Given the description of an element on the screen output the (x, y) to click on. 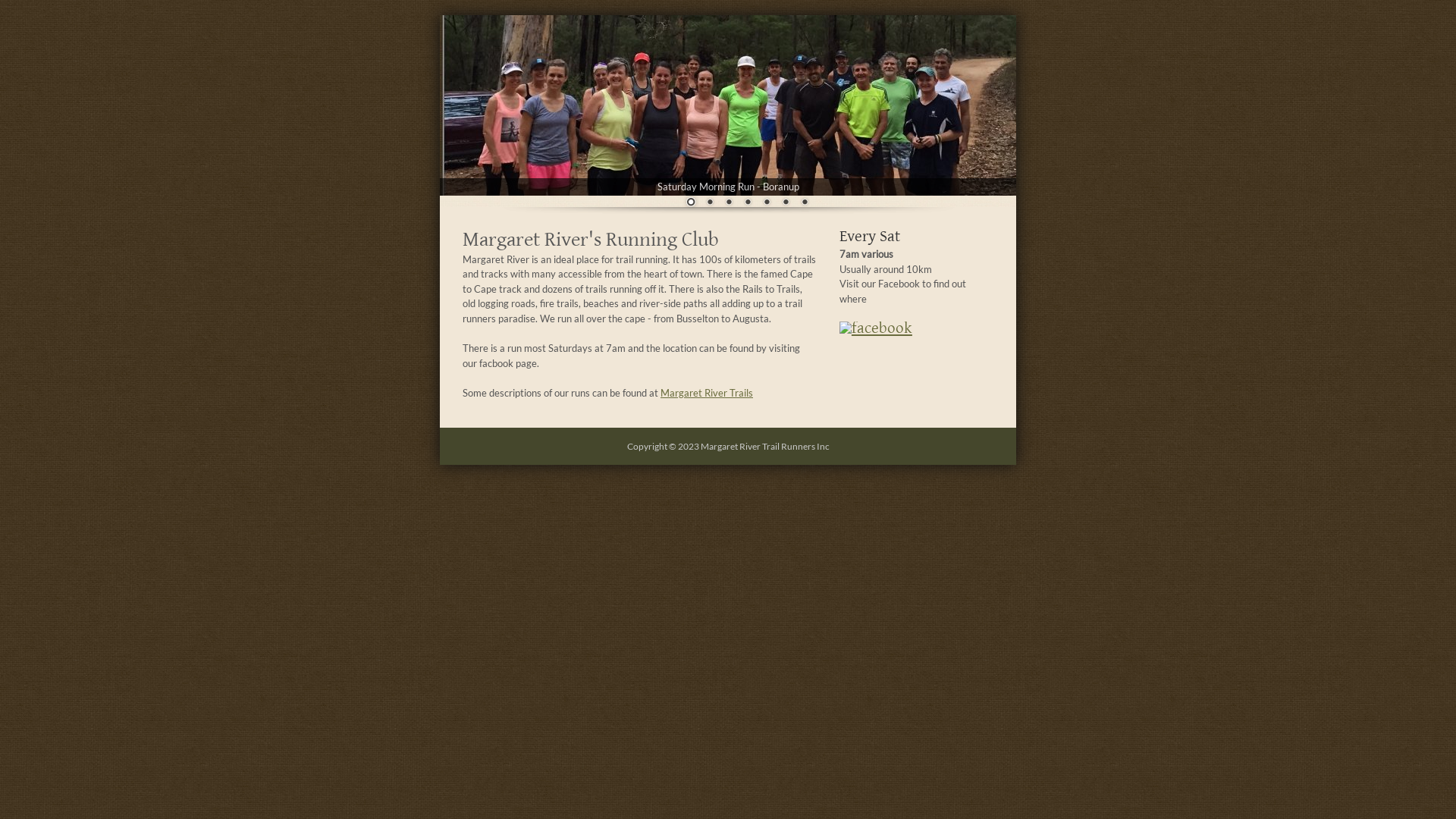
7 Element type: text (804, 202)
2 Element type: text (709, 202)
4 Element type: text (747, 202)
Margaret River Trails Element type: text (706, 392)
6 Element type: text (785, 202)
3 Element type: text (728, 202)
1 Element type: text (690, 202)
5 Element type: text (766, 202)
